Given the description of an element on the screen output the (x, y) to click on. 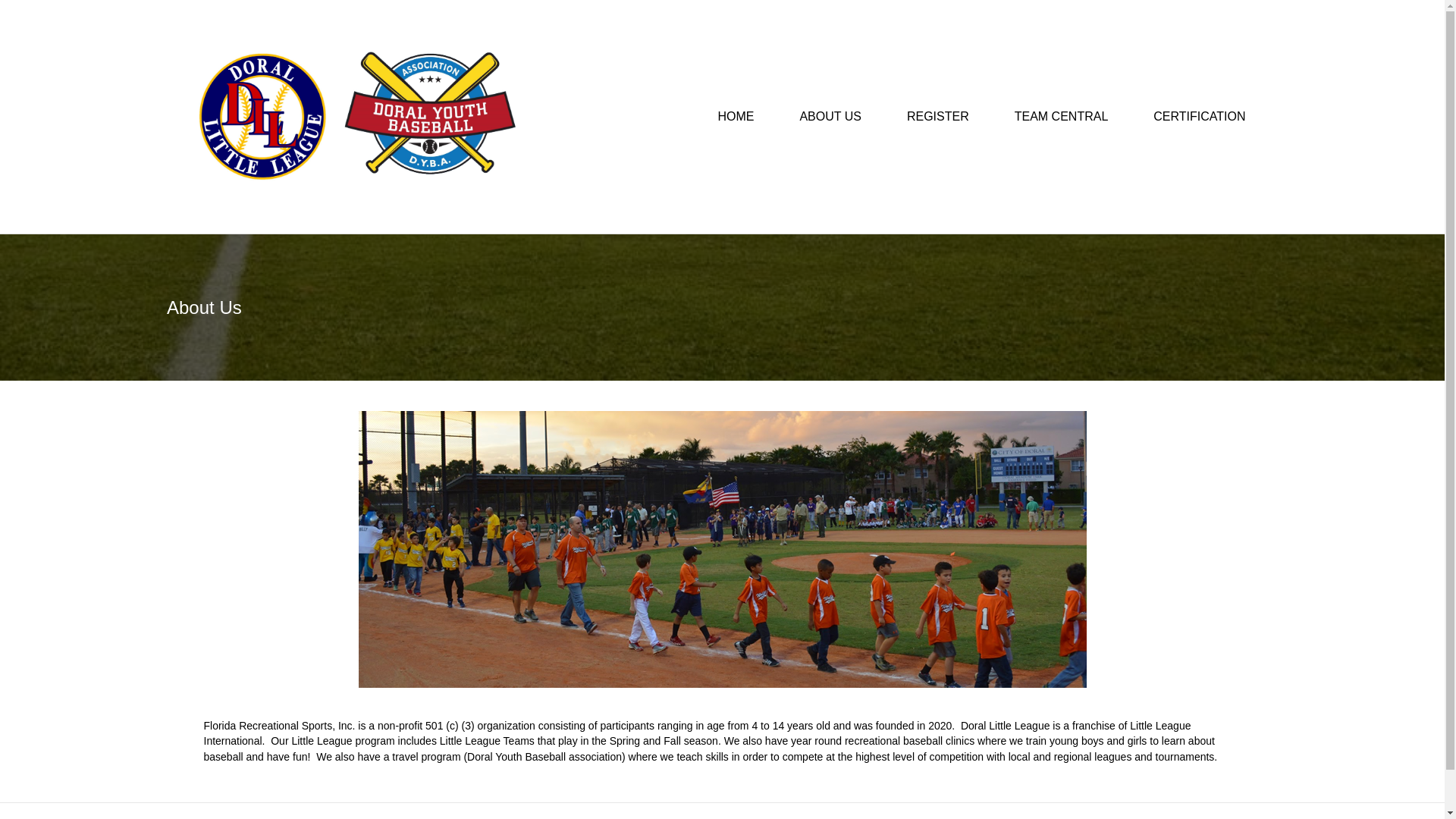
HOME (735, 116)
TEAM CENTRAL (1061, 116)
CERTIFICATION (1199, 116)
REGISTER (937, 116)
ABOUT US (829, 116)
